Given the description of an element on the screen output the (x, y) to click on. 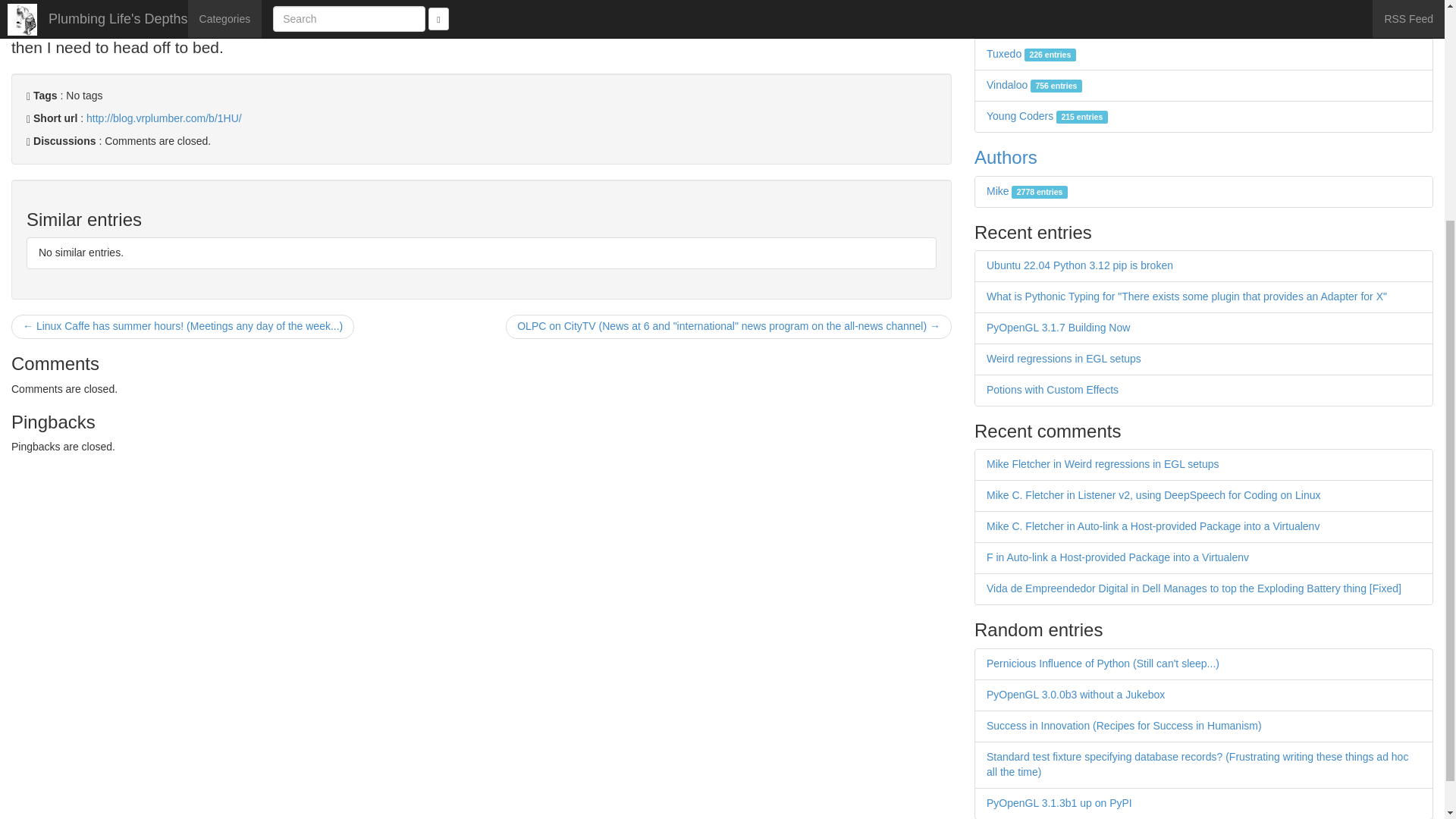
PyOpenGL 3.1.7 Building Now (1058, 327)
Potions with Custom Effects (1052, 389)
Vindaloo 756 entries (1034, 84)
F in Auto-link a Host-provided Package into a Virtualenv (1118, 557)
PyOpenGL 3.0.0b3 without a Jukebox (1075, 694)
Authors (1005, 157)
Ubuntu 22.04 Python 3.12 pip is broken (1080, 265)
Young Coders 215 entries (1047, 115)
Tuxedo 226 entries (1031, 53)
Mike Fletcher in Weird regressions in EGL setups (1103, 463)
Weird regressions in EGL setups (1064, 358)
Snaking 1492 entries (1035, 22)
